Given the description of an element on the screen output the (x, y) to click on. 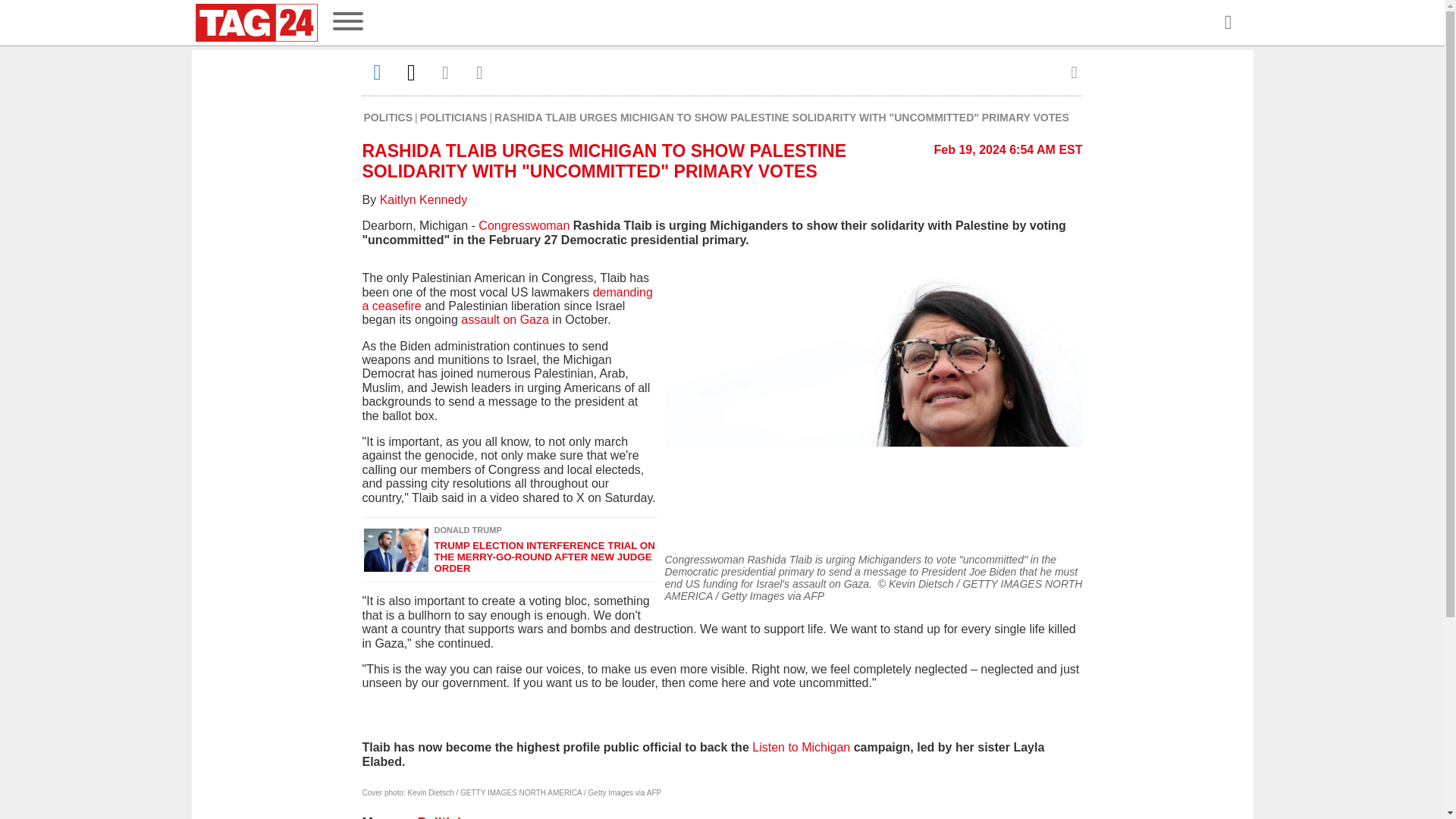
Kaitlyn Kennedy (423, 199)
Politicians (449, 816)
assault on Gaza (504, 318)
Share on Twitter (411, 72)
Share on Facebook (377, 72)
Copy link (479, 72)
POLITICIANS (453, 117)
Share via mail (445, 72)
Congresswoman (524, 225)
Open search (1227, 22)
demanding a ceasefire (507, 298)
POLITICS (388, 117)
Listen to Michigan (801, 747)
